Given the description of an element on the screen output the (x, y) to click on. 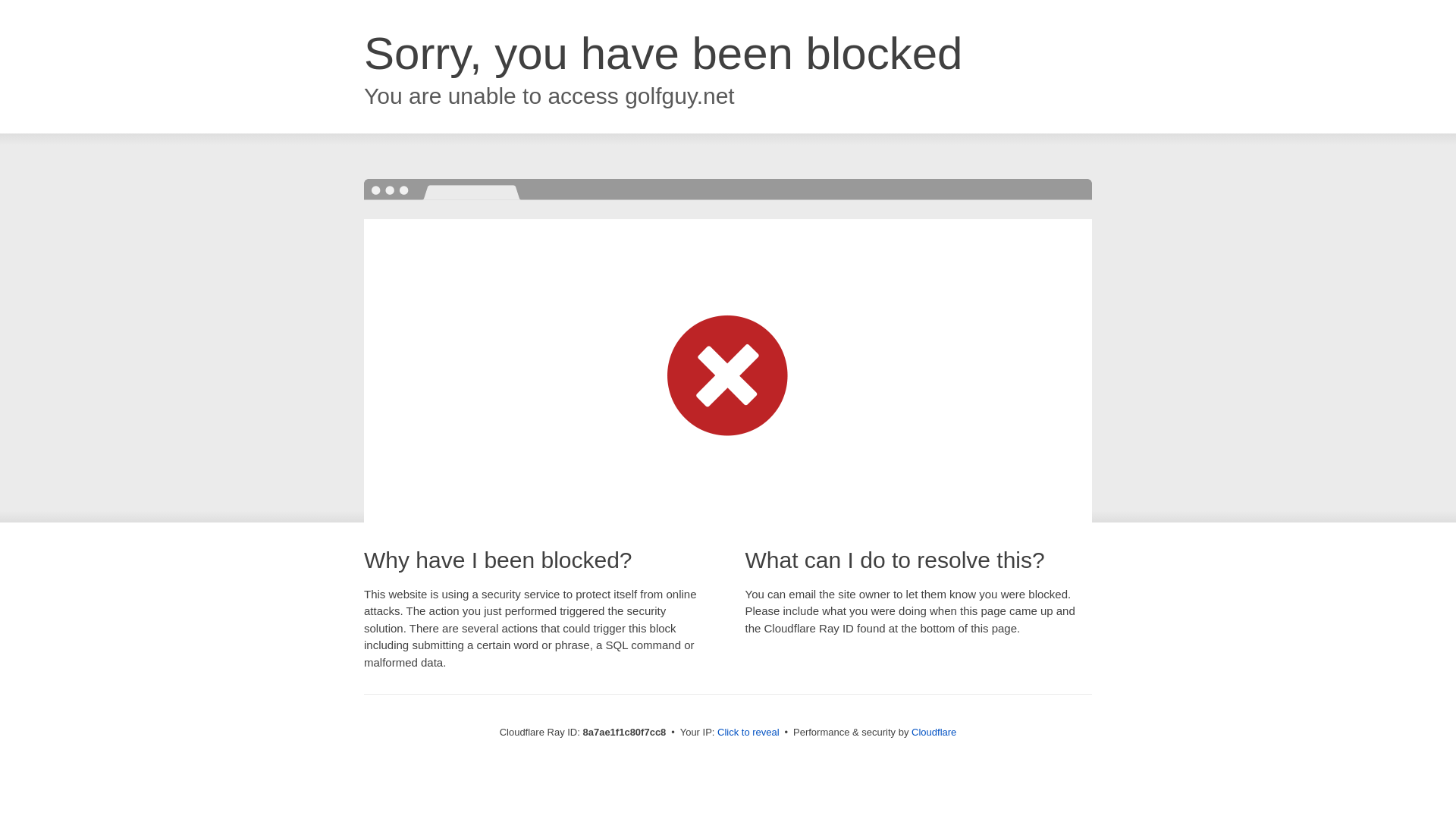
Click to reveal (747, 732)
Cloudflare (933, 731)
